Given the description of an element on the screen output the (x, y) to click on. 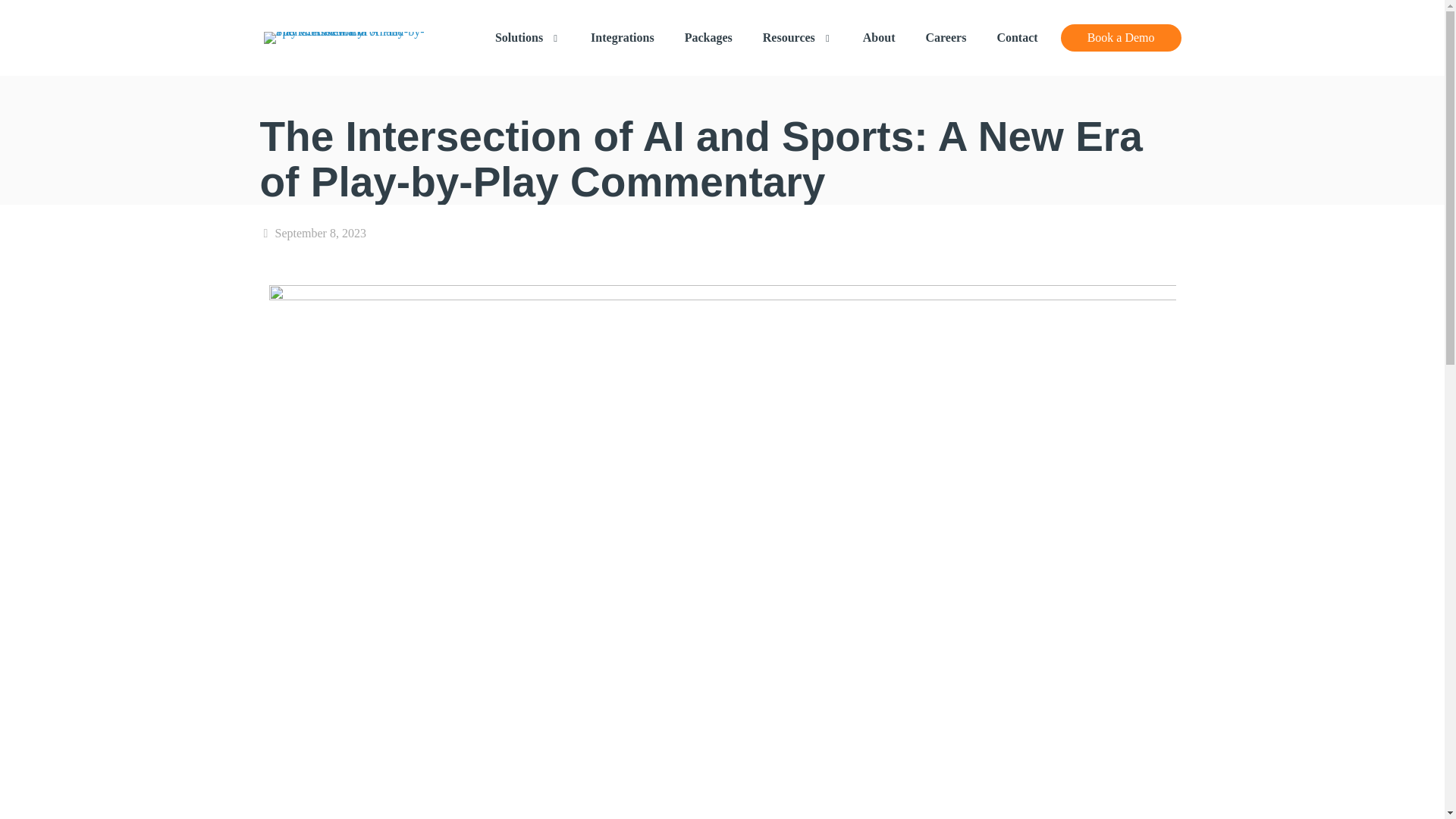
Solutions (527, 37)
Resources (797, 37)
Packages (708, 37)
Integrations (622, 37)
About (879, 37)
